Given the description of an element on the screen output the (x, y) to click on. 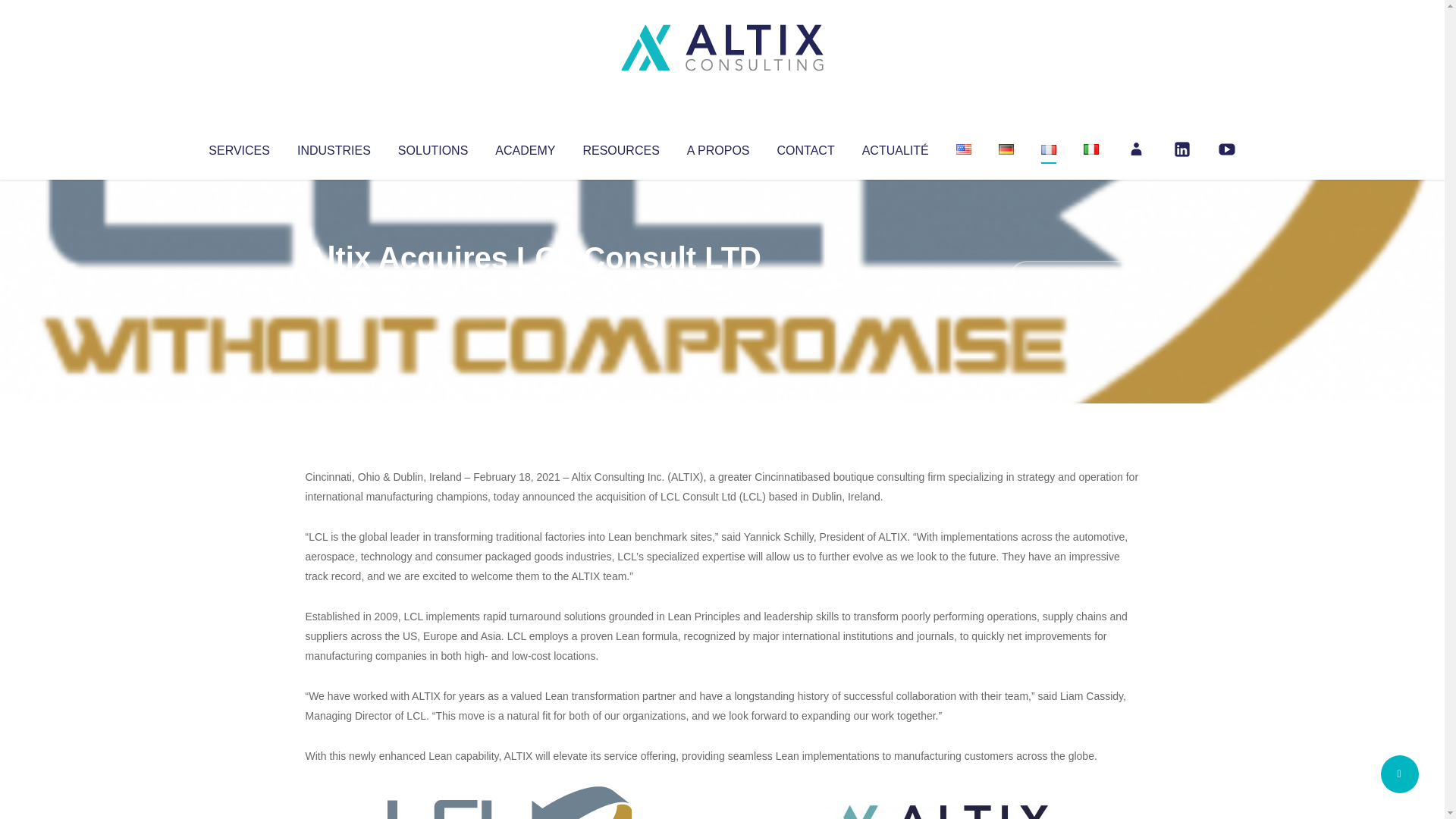
No Comments (1073, 278)
SOLUTIONS (432, 146)
Articles par Altix (333, 287)
SERVICES (238, 146)
Altix (333, 287)
Uncategorized (530, 287)
A PROPOS (718, 146)
INDUSTRIES (334, 146)
ACADEMY (524, 146)
RESOURCES (620, 146)
